Given the description of an element on the screen output the (x, y) to click on. 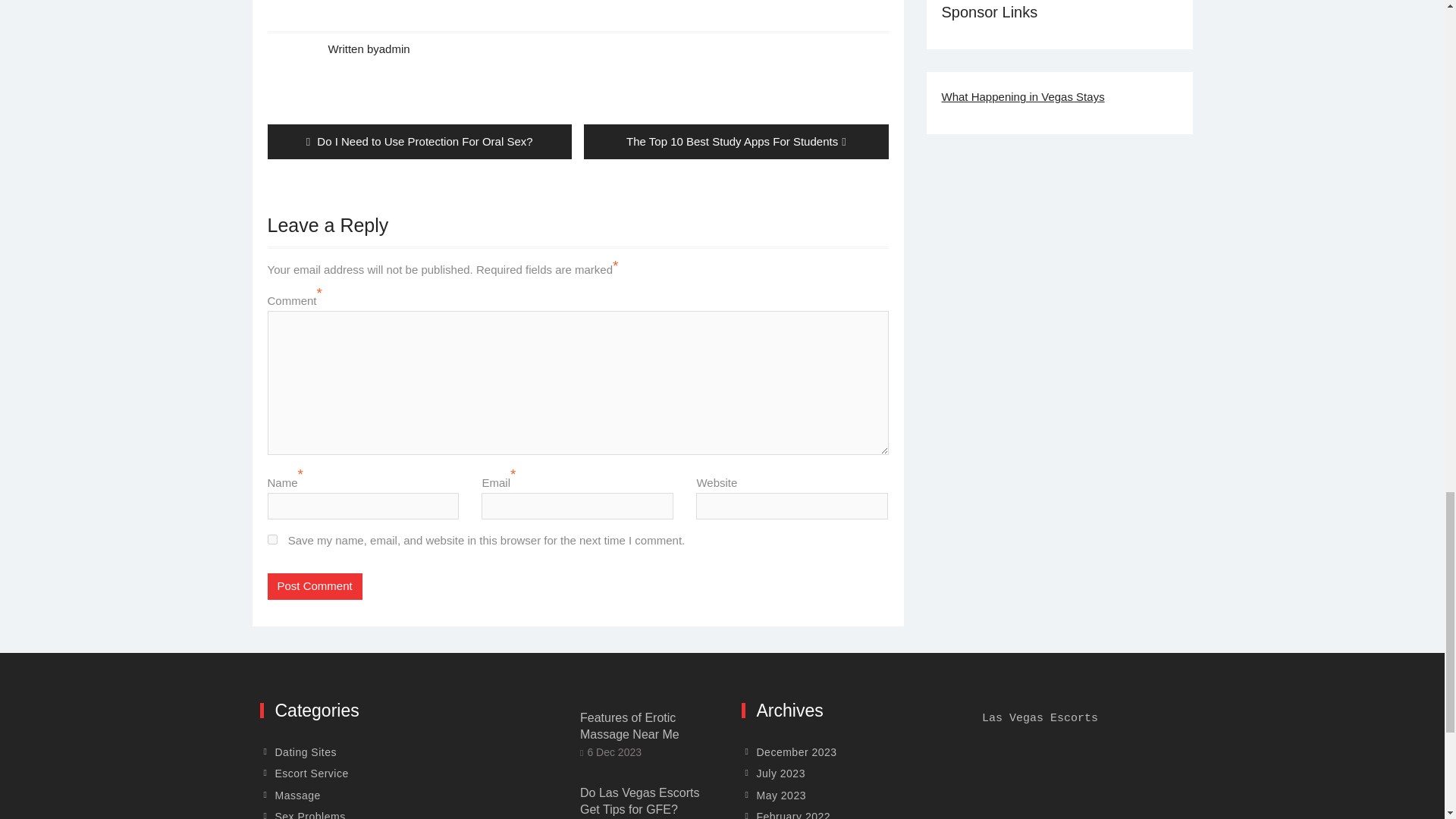
yes (271, 539)
Post Comment (313, 586)
Post Comment (313, 586)
admin (418, 141)
Posts by admin (394, 48)
